Given the description of an element on the screen output the (x, y) to click on. 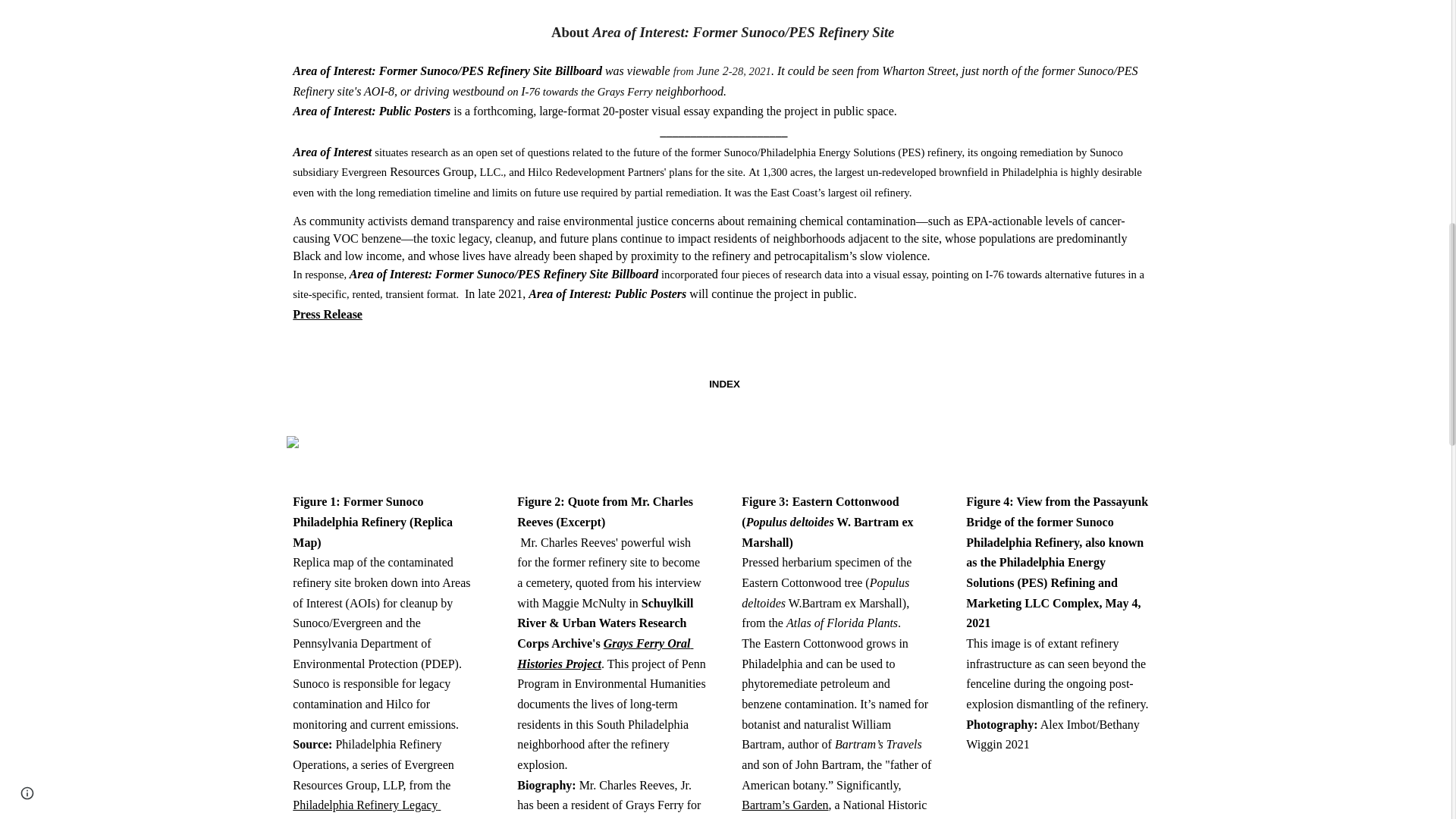
Philadelphia Refinery Legacy Remediation website (366, 808)
Grays Ferry Oral Histories Project (604, 653)
Press Release (327, 314)
